Given the description of an element on the screen output the (x, y) to click on. 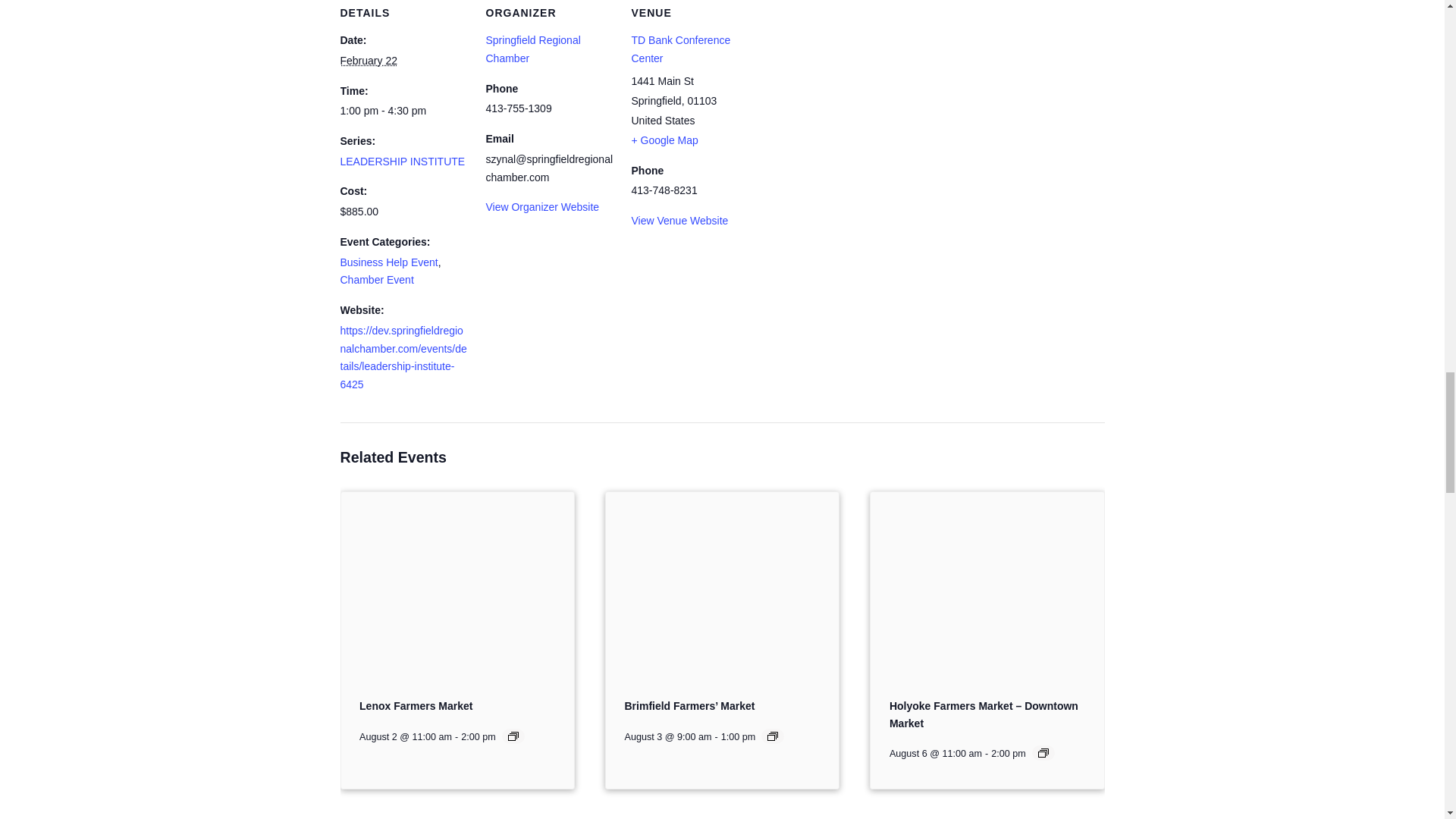
LEADERSHIP INSTITUTE (401, 161)
Event Series (513, 736)
Event Series (772, 736)
Click to view a Google Map (663, 150)
Springfield Regional Chamber (531, 49)
2024-02-22 (403, 111)
2024-02-22 (367, 60)
